Given the description of an element on the screen output the (x, y) to click on. 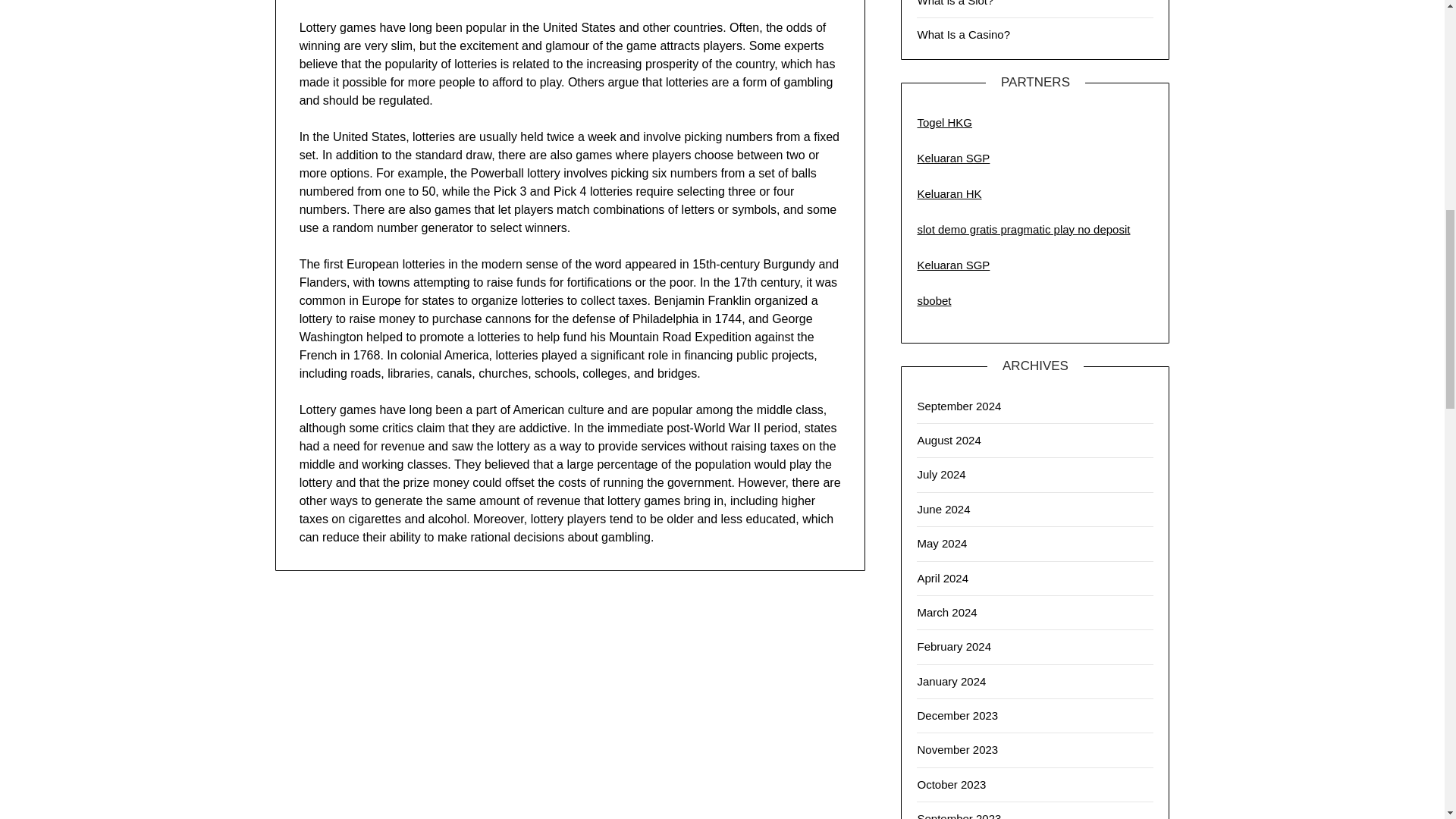
April 2024 (942, 577)
July 2024 (941, 473)
January 2024 (951, 680)
February 2024 (954, 645)
October 2023 (951, 784)
Keluaran SGP (953, 157)
What is a Slot? (954, 3)
Keluaran SGP (953, 264)
May 2024 (941, 543)
Keluaran HK (949, 193)
